Given the description of an element on the screen output the (x, y) to click on. 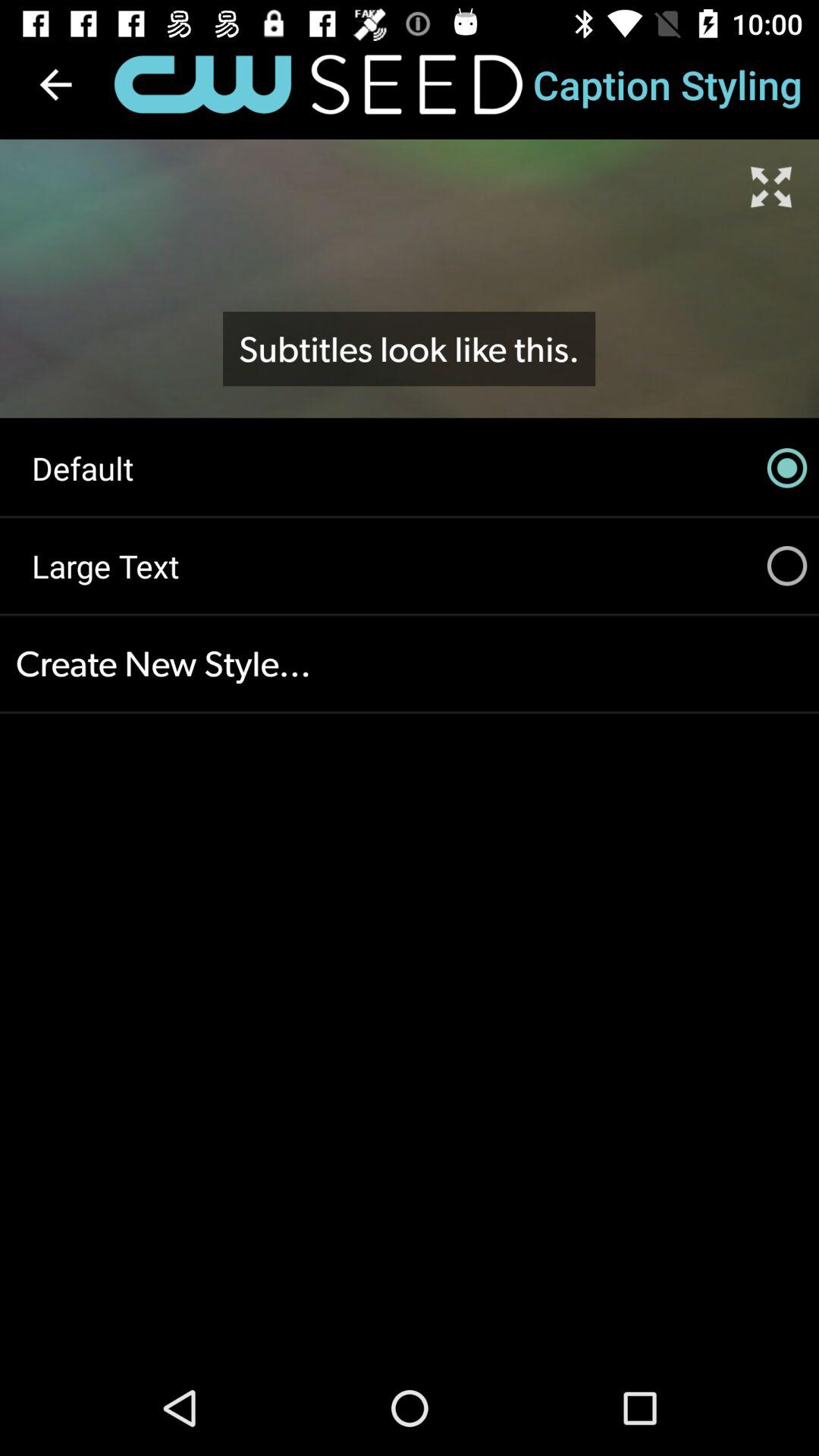
click item above the default icon (408, 348)
